Given the description of an element on the screen output the (x, y) to click on. 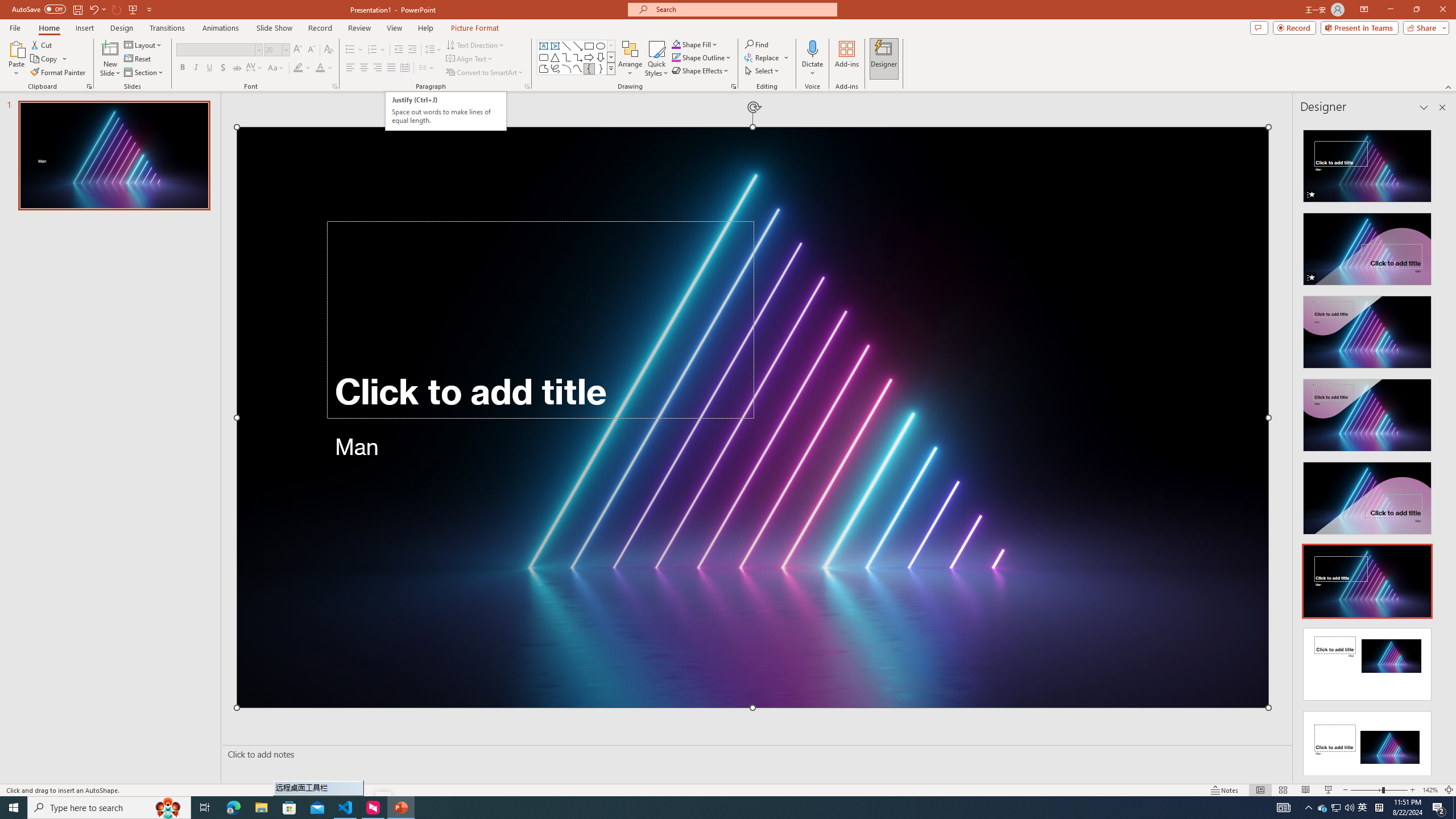
Zoom 142% (1430, 790)
Design Idea with Animation (1366, 245)
